Given the description of an element on the screen output the (x, y) to click on. 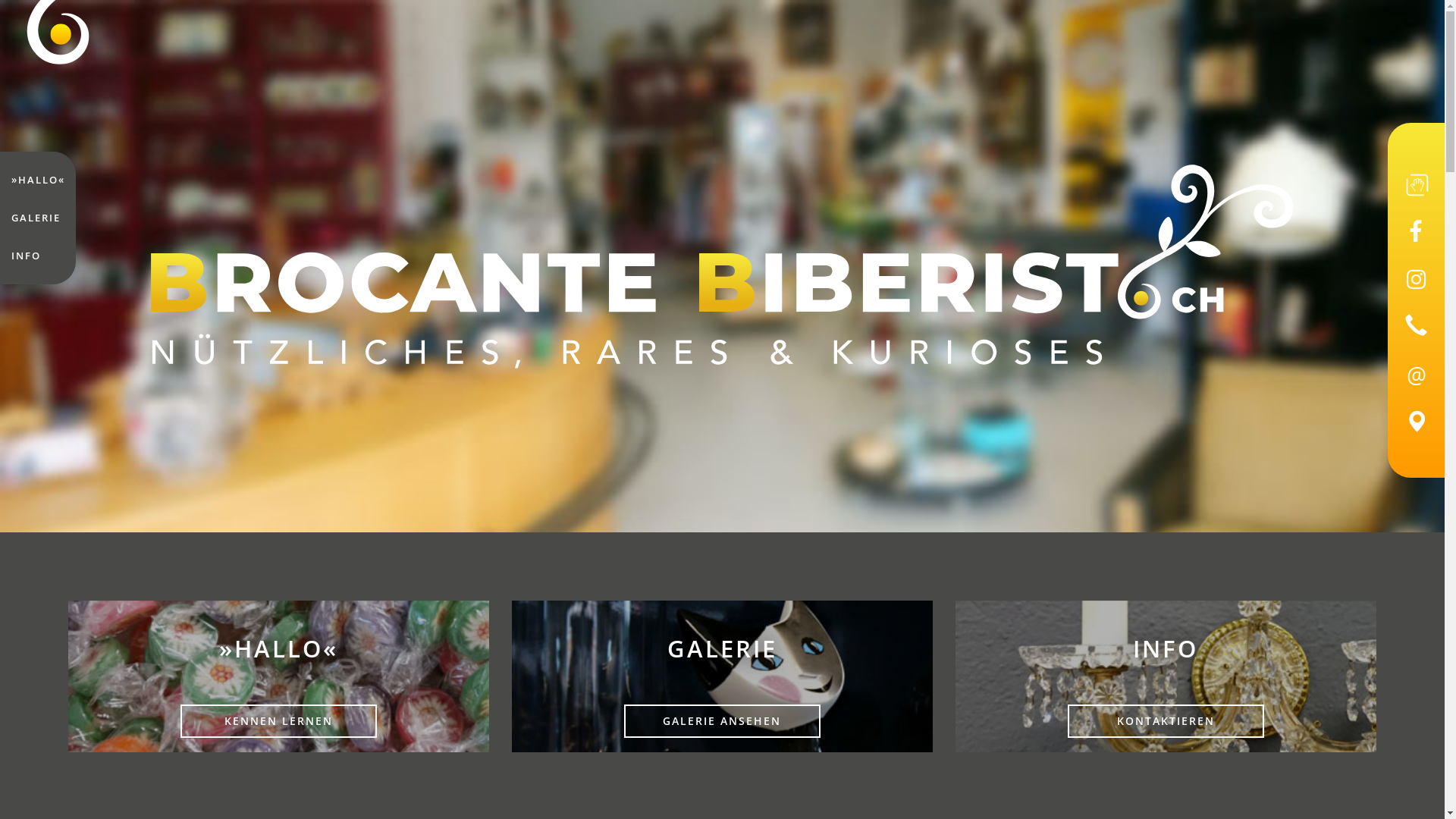
INFO Element type: text (26, 256)
KONTAKTIEREN Element type: text (1165, 721)
INFO
KONTAKTIEREN Element type: text (1165, 676)
GALERIE
GALERIE ANSEHEN Element type: text (721, 676)
GALERIE Element type: text (36, 218)
KENNEN LERNEN Element type: text (278, 721)
@ Element type: text (1416, 374)
GALERIE ANSEHEN Element type: text (721, 721)
